Given the description of an element on the screen output the (x, y) to click on. 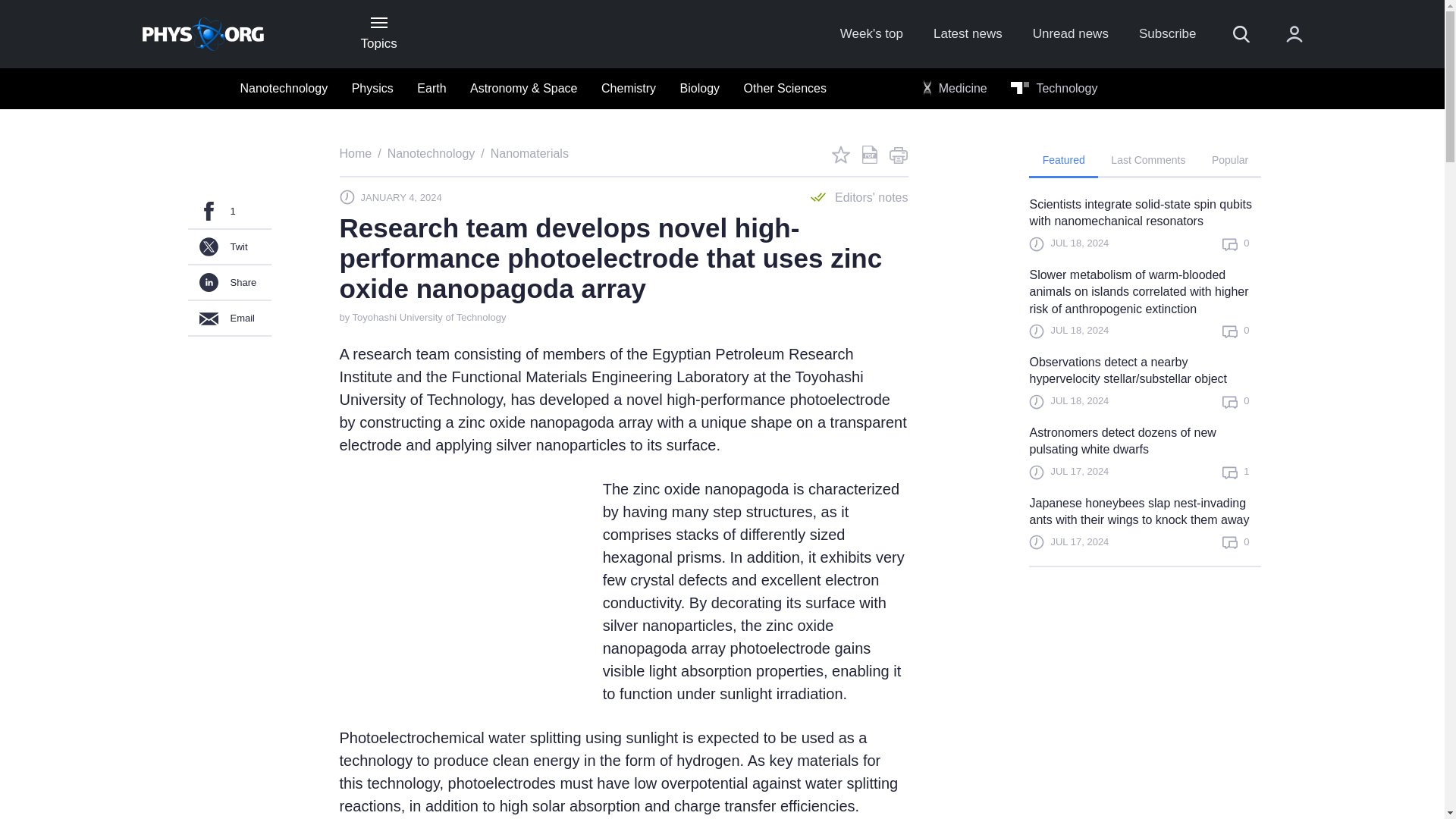
1 (228, 212)
Editors' notes (859, 196)
Earth (430, 88)
Twit (228, 247)
Share (228, 283)
Save as pdf file (869, 154)
Nanotechnology (431, 153)
Physics (372, 88)
Chemistry (628, 88)
Other Sciences (785, 88)
Latest news (968, 34)
Print (898, 154)
Email (228, 318)
Topics (378, 33)
Week's top (871, 34)
